Given the description of an element on the screen output the (x, y) to click on. 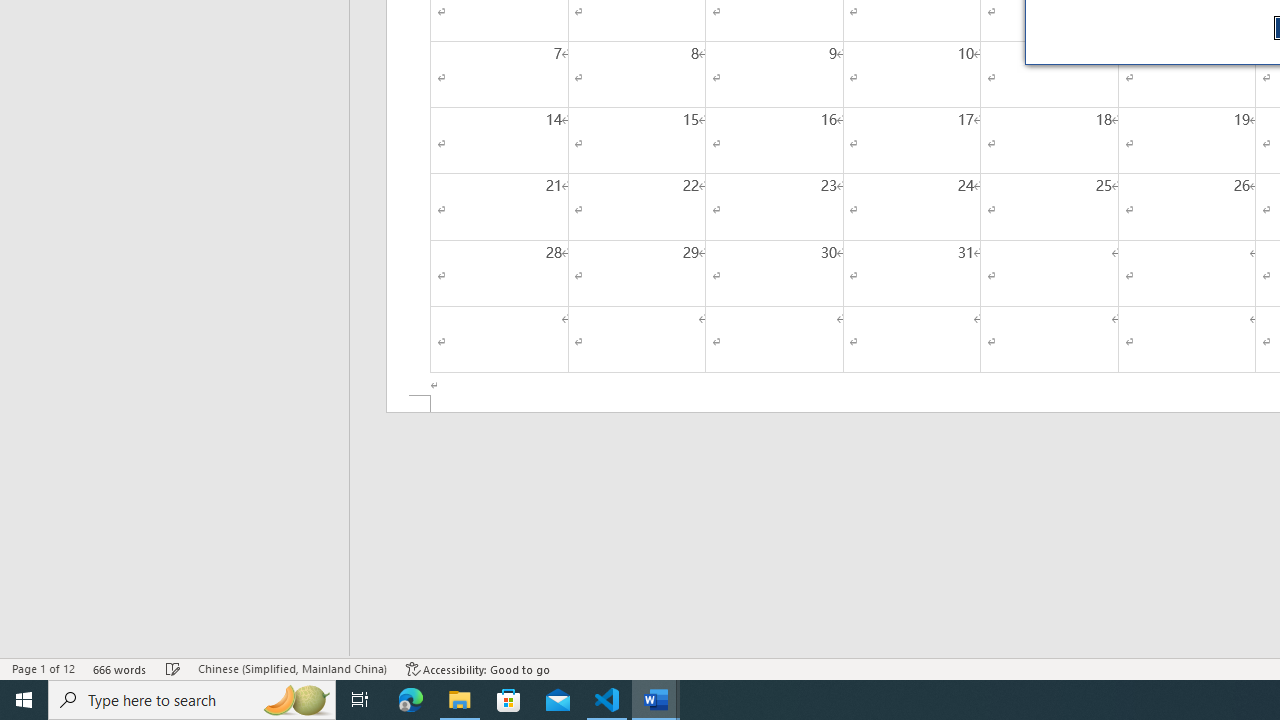
Page Number Page 1 of 12 (43, 668)
